Given the description of an element on the screen output the (x, y) to click on. 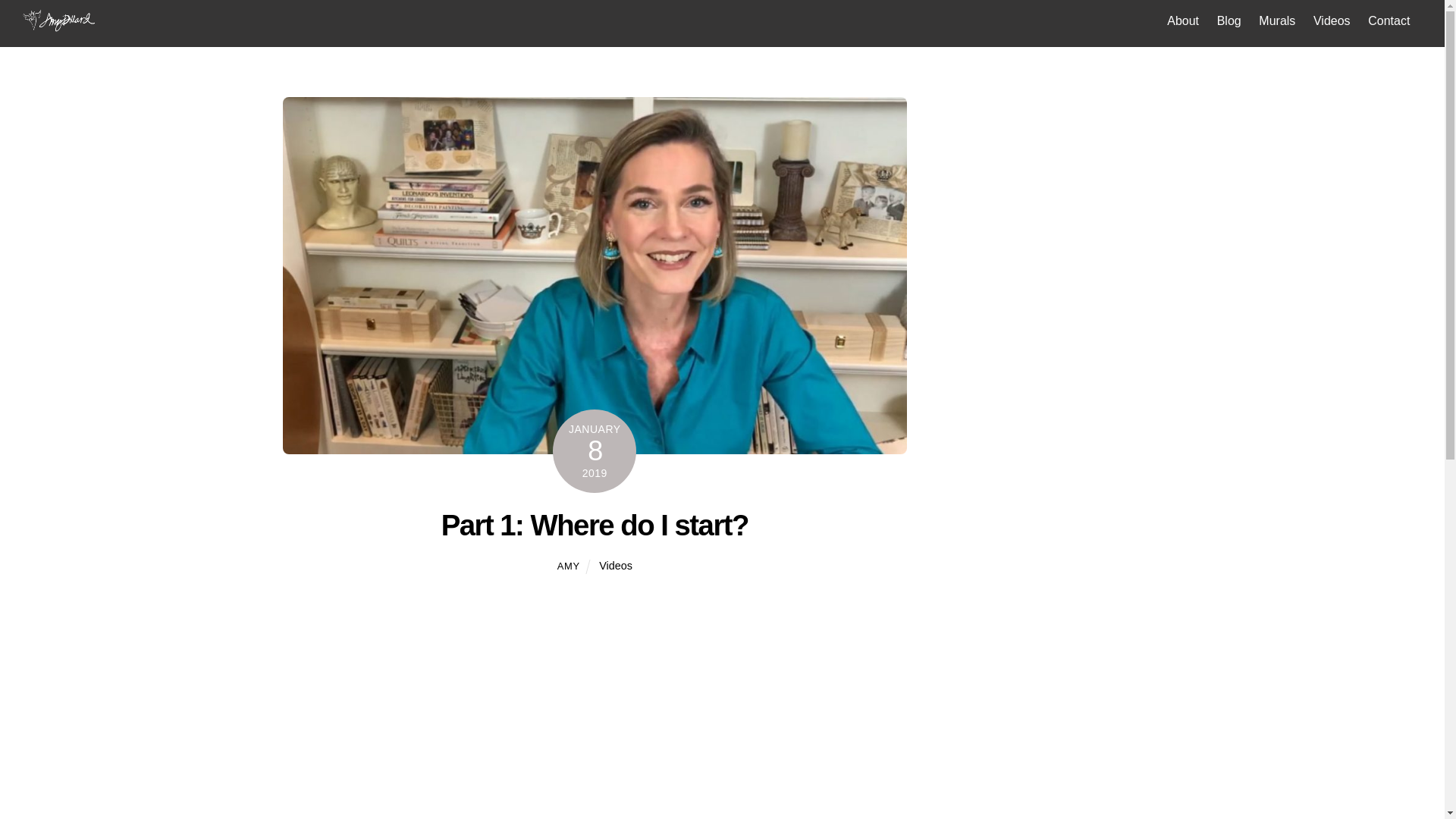
Blog (1228, 21)
Amy Dillard (59, 24)
Part 1: Where do I start? (594, 524)
About (1183, 21)
Videos (614, 565)
amy dillard logo for website with heart (59, 19)
Murals (1277, 21)
Videos (1331, 21)
AMY (568, 565)
